Given the description of an element on the screen output the (x, y) to click on. 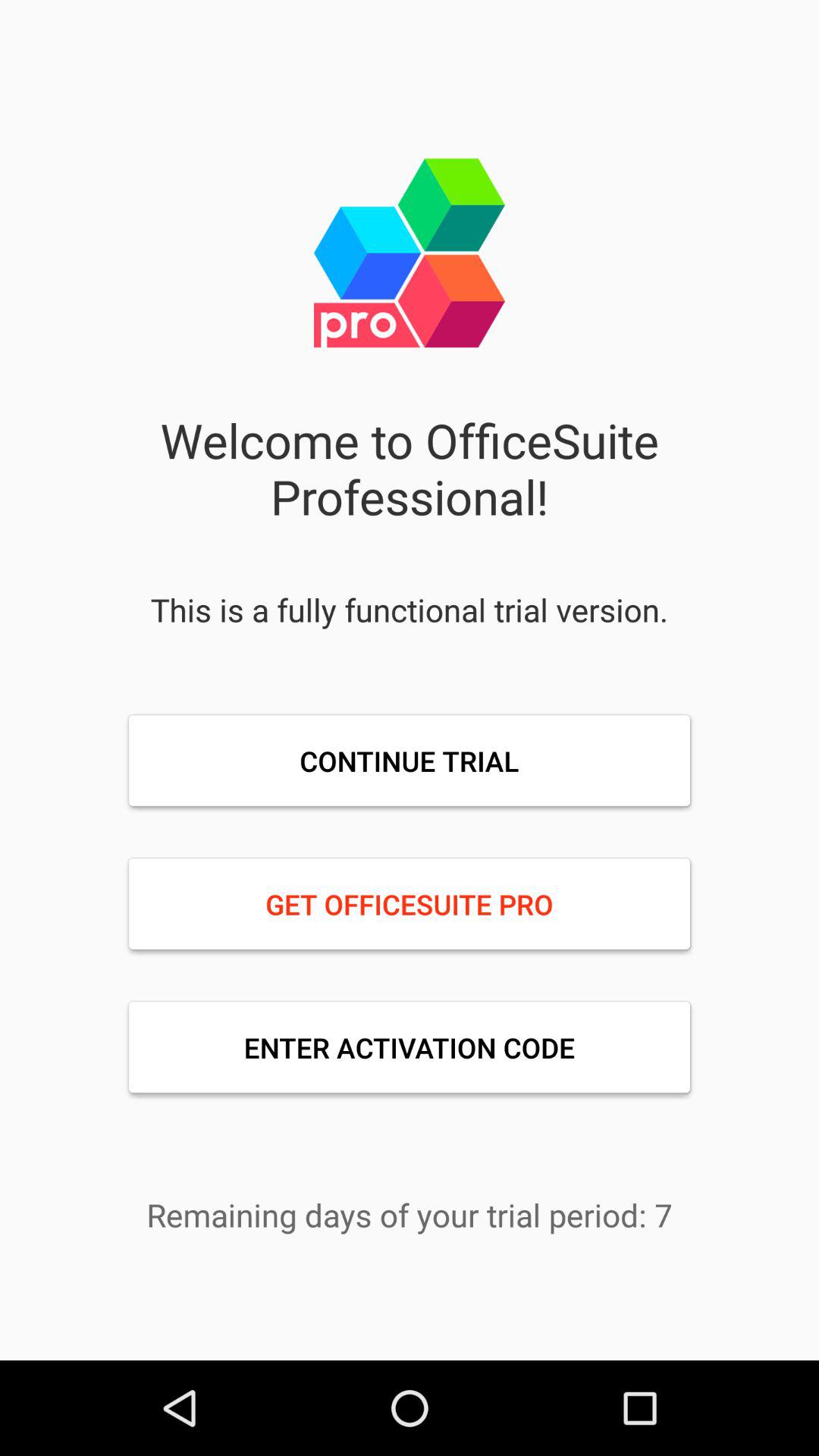
click the enter activation code (409, 1047)
